Given the description of an element on the screen output the (x, y) to click on. 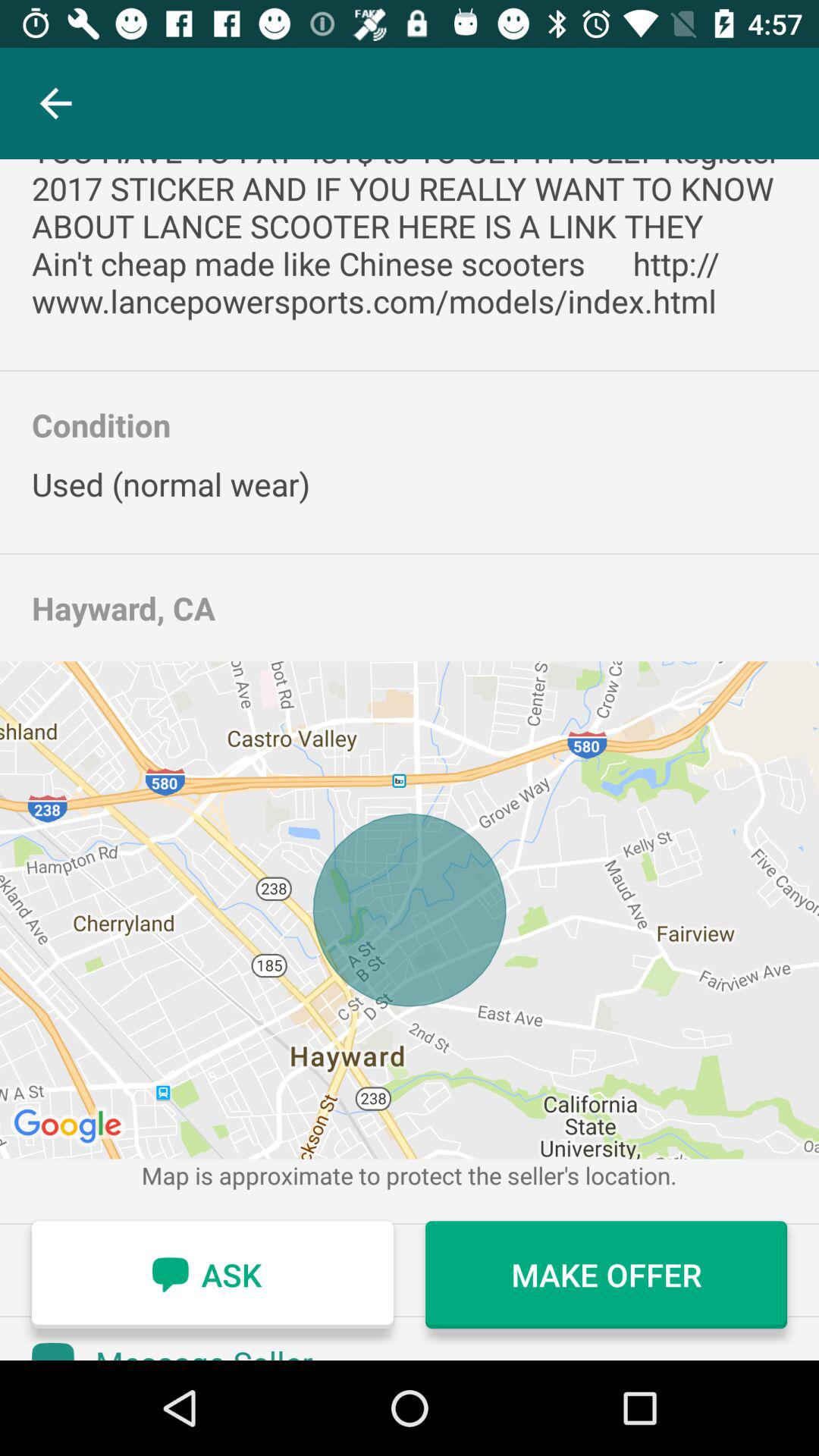
tap the icon next to ask icon (606, 1274)
